Given the description of an element on the screen output the (x, y) to click on. 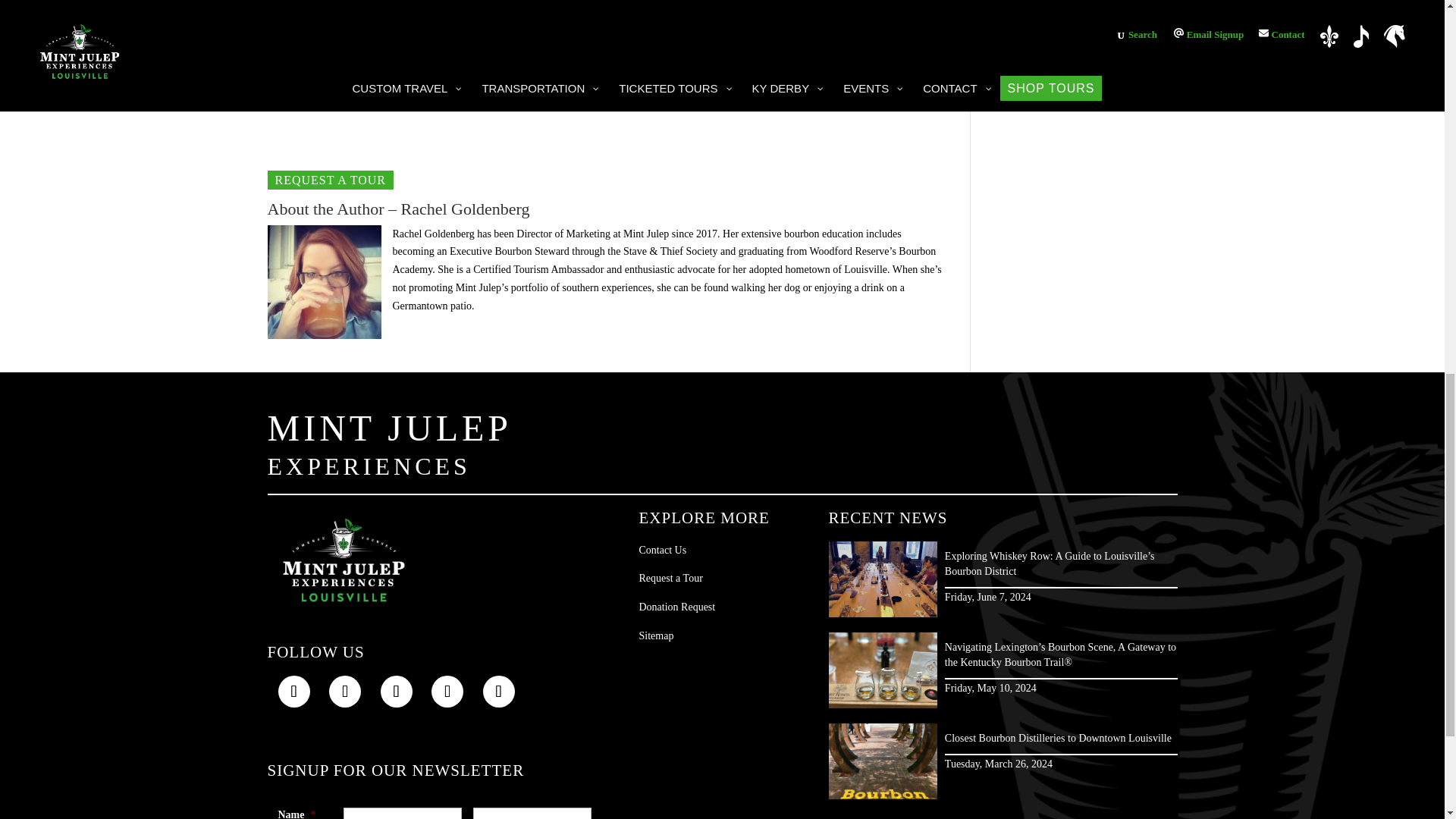
LinkedIn (396, 691)
Rachel Goldenberg (323, 282)
Facebook (293, 691)
Instagram (345, 691)
